Given the description of an element on the screen output the (x, y) to click on. 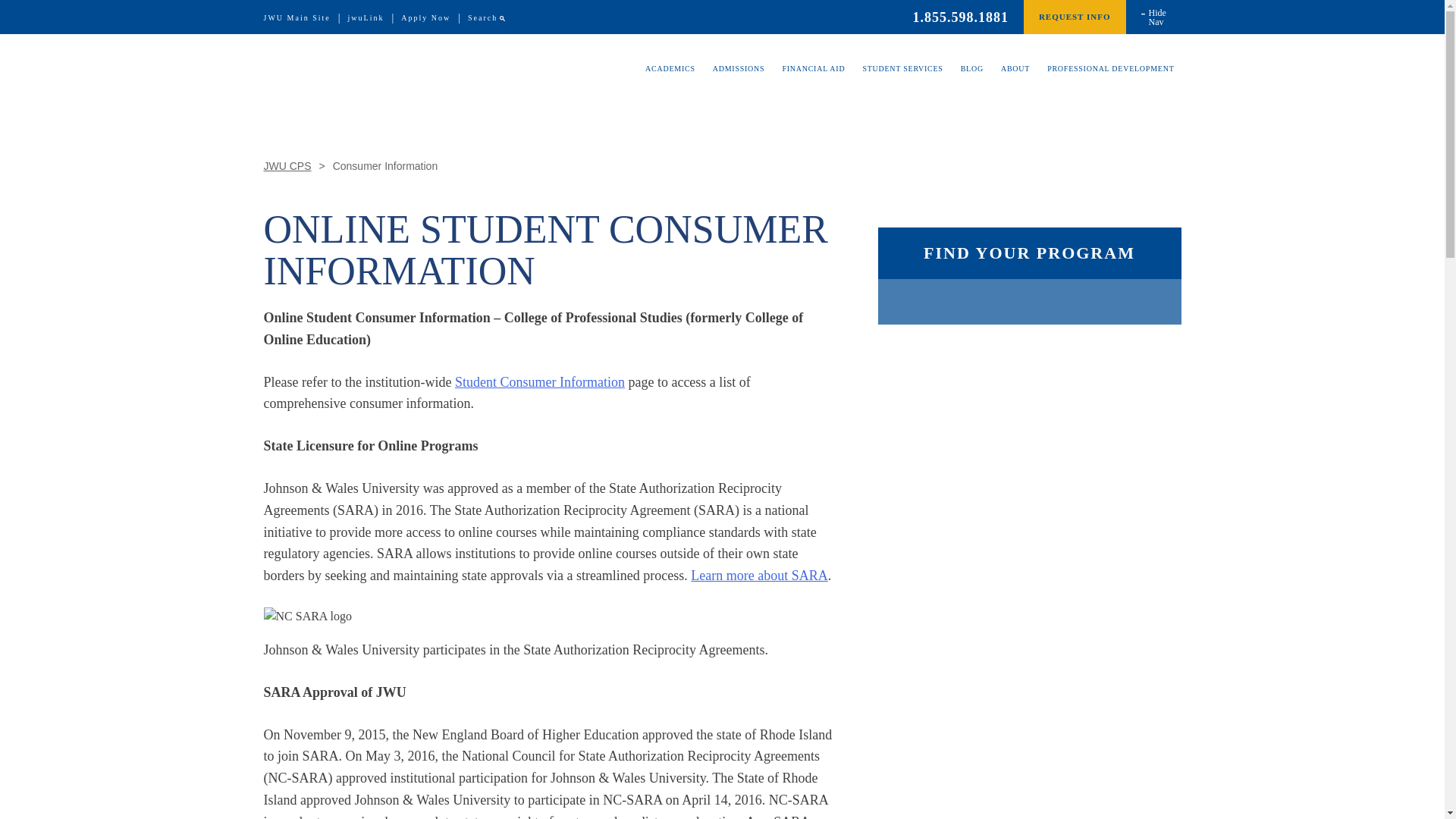
Call us today. (960, 17)
JWU Main Site (296, 17)
REQUEST INFO (1074, 17)
Apply Now (425, 17)
Search (482, 17)
jwuLink (365, 17)
ADMISSIONS (738, 80)
JWU College of Professional Studies (381, 67)
ACADEMICS (670, 80)
1.855.598.1881 (960, 17)
